Given the description of an element on the screen output the (x, y) to click on. 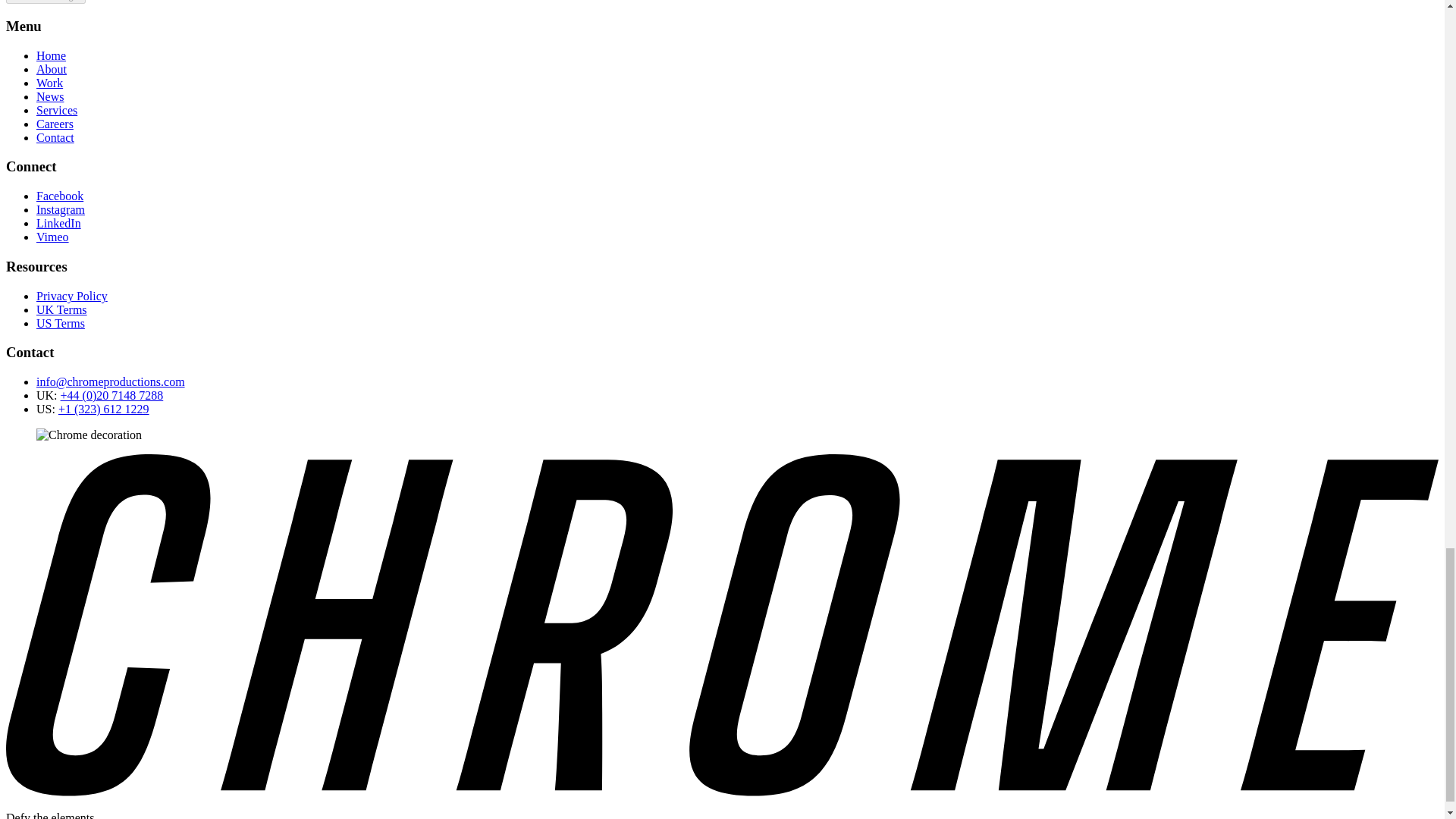
Careers (55, 123)
Services (56, 110)
LinkedIn (58, 223)
Vimeo (52, 236)
Facebook (59, 195)
US Terms (60, 323)
View Instagram profile (60, 209)
About (51, 69)
Work (49, 82)
Send Message (45, 2)
Contact (55, 137)
News (50, 96)
UK Terms (61, 309)
Instagram (60, 209)
Home (50, 55)
